Given the description of an element on the screen output the (x, y) to click on. 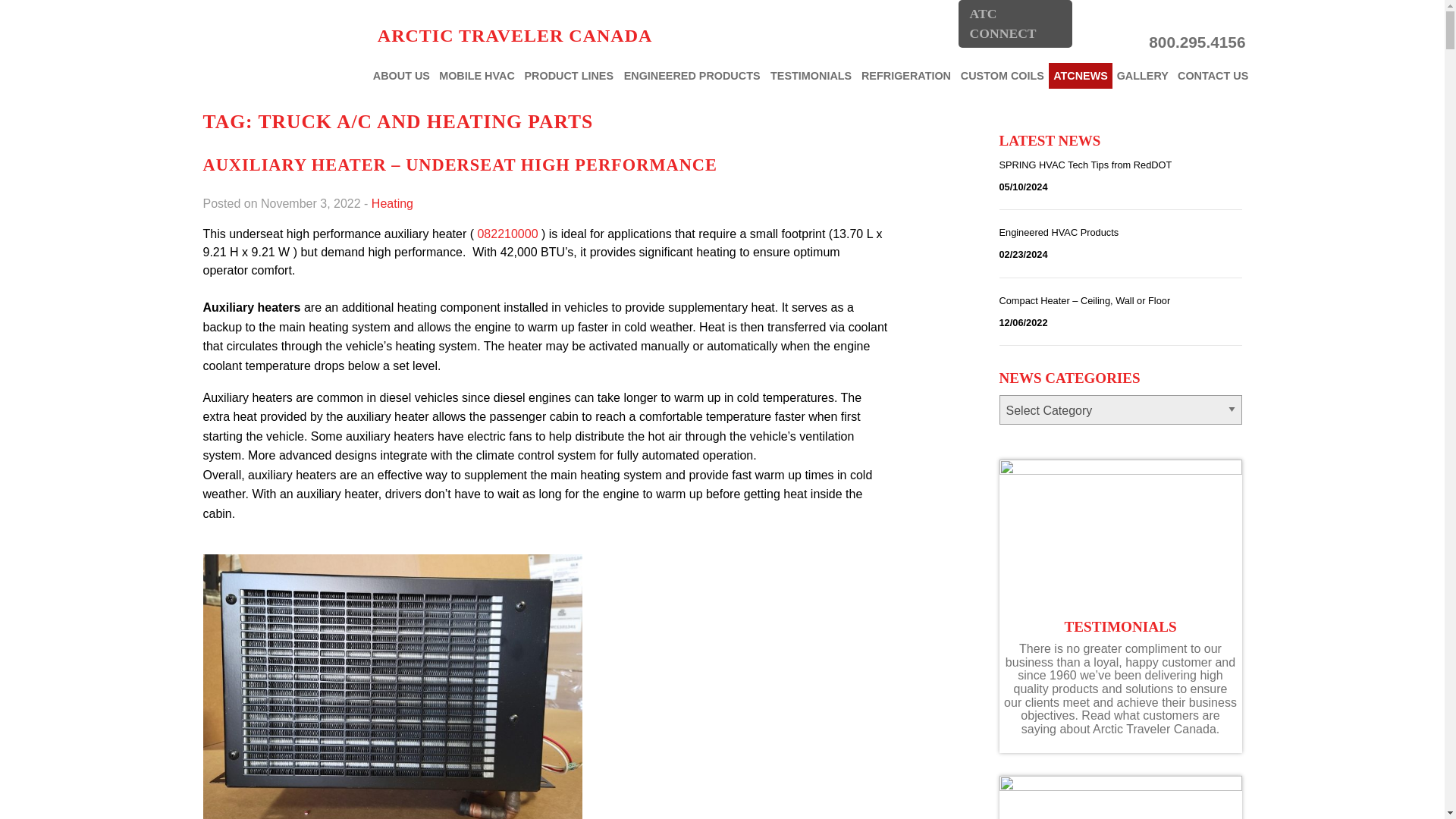
ATCNEWS (1080, 75)
REFRIGERATION (906, 75)
CUSTOM COILS (1001, 75)
ATC CONNECT (1014, 23)
CONTACT US (1213, 75)
ABOUT US (400, 75)
PRODUCT LINES (568, 75)
GALLERY (1142, 75)
MOBILE HVAC (476, 75)
TESTIMONIALS (811, 75)
800.295.4156 (1102, 42)
ENGINEERED PRODUCTS (691, 75)
